Given the description of an element on the screen output the (x, y) to click on. 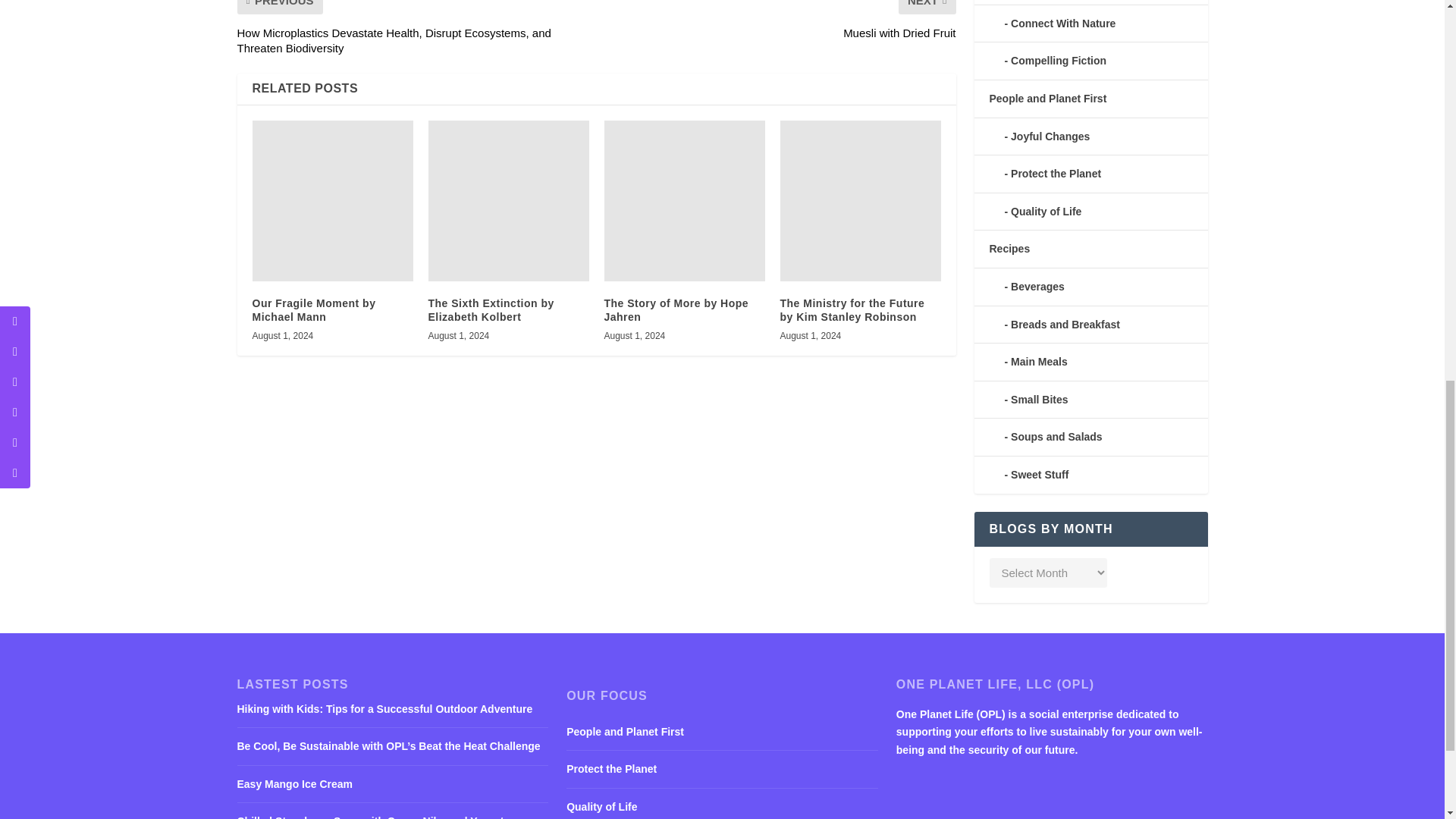
The Ministry for the Future by Kim Stanley Robinson (859, 200)
Our Fragile Moment by Michael Mann (331, 200)
The Sixth Extinction by Elizabeth Kolbert (508, 200)
The Story of More by Hope Jahren (684, 200)
